Given the description of an element on the screen output the (x, y) to click on. 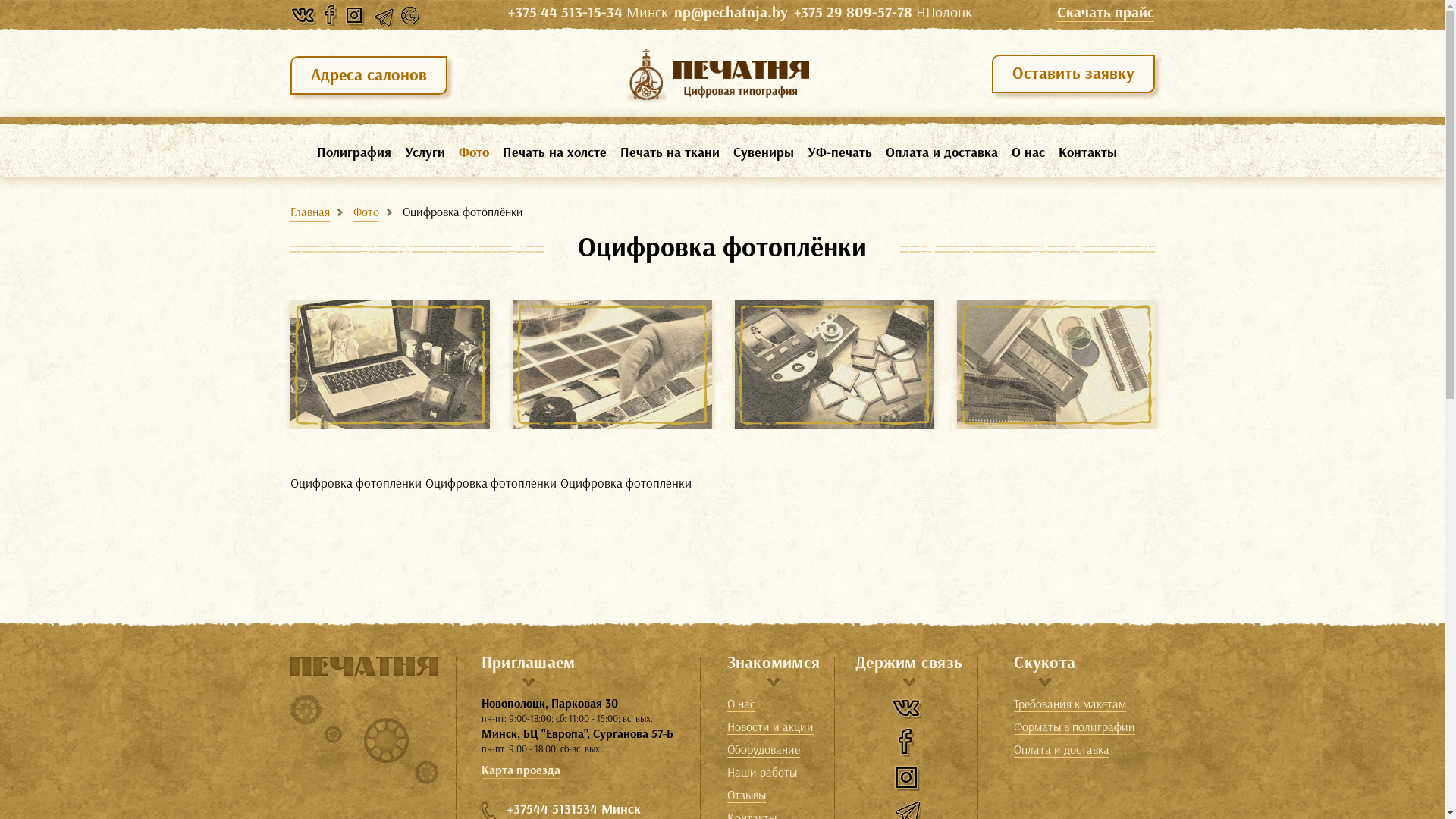
+37544 5131534 Element type: text (552, 808)
+375 44 513-15-34 Element type: text (565, 12)
+375 29 809-57-78 Element type: text (852, 12)
np@pechatnja.by Element type: text (730, 12)
